Given the description of an element on the screen output the (x, y) to click on. 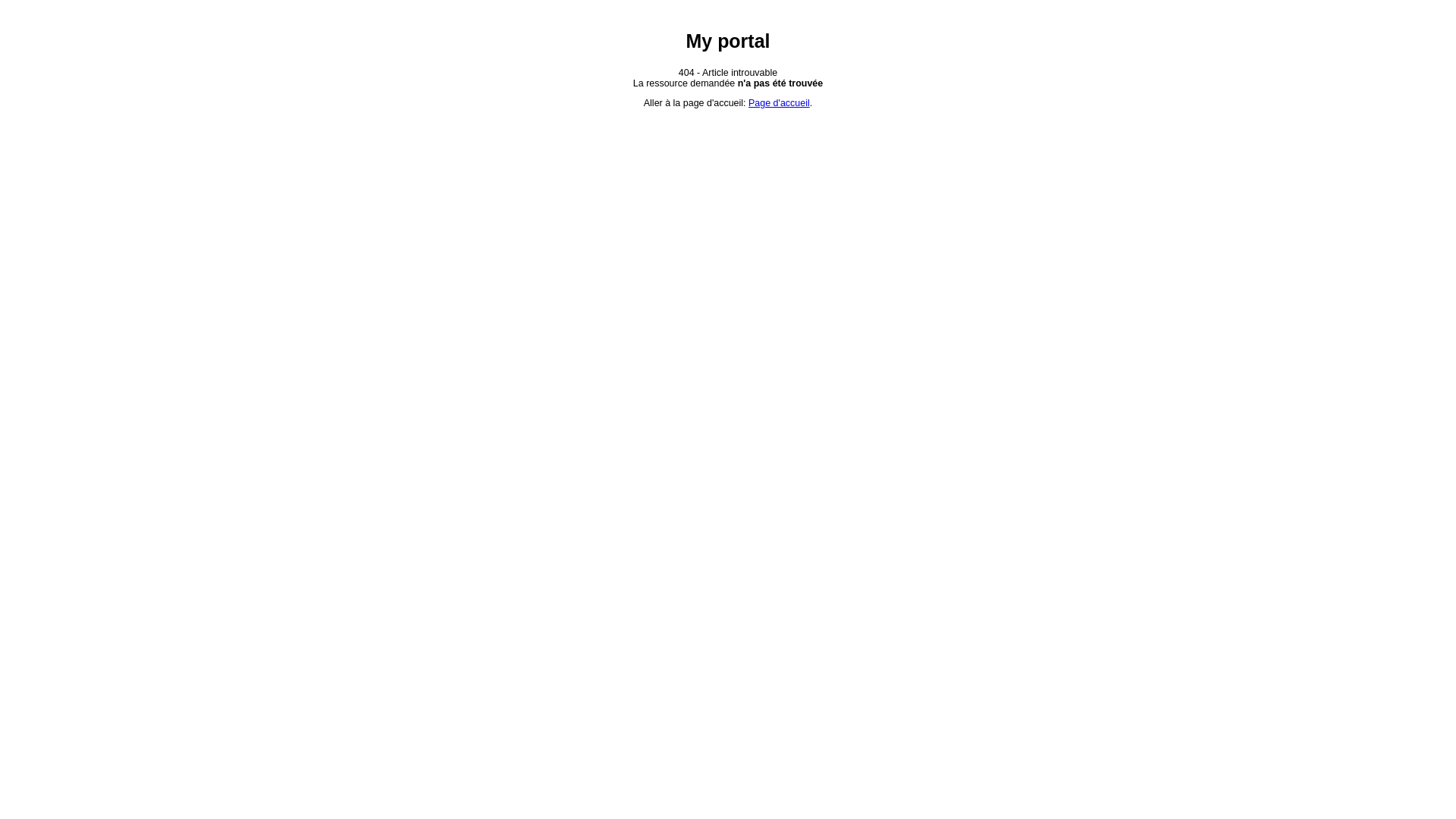
Page d'accueil Element type: text (778, 102)
